Given the description of an element on the screen output the (x, y) to click on. 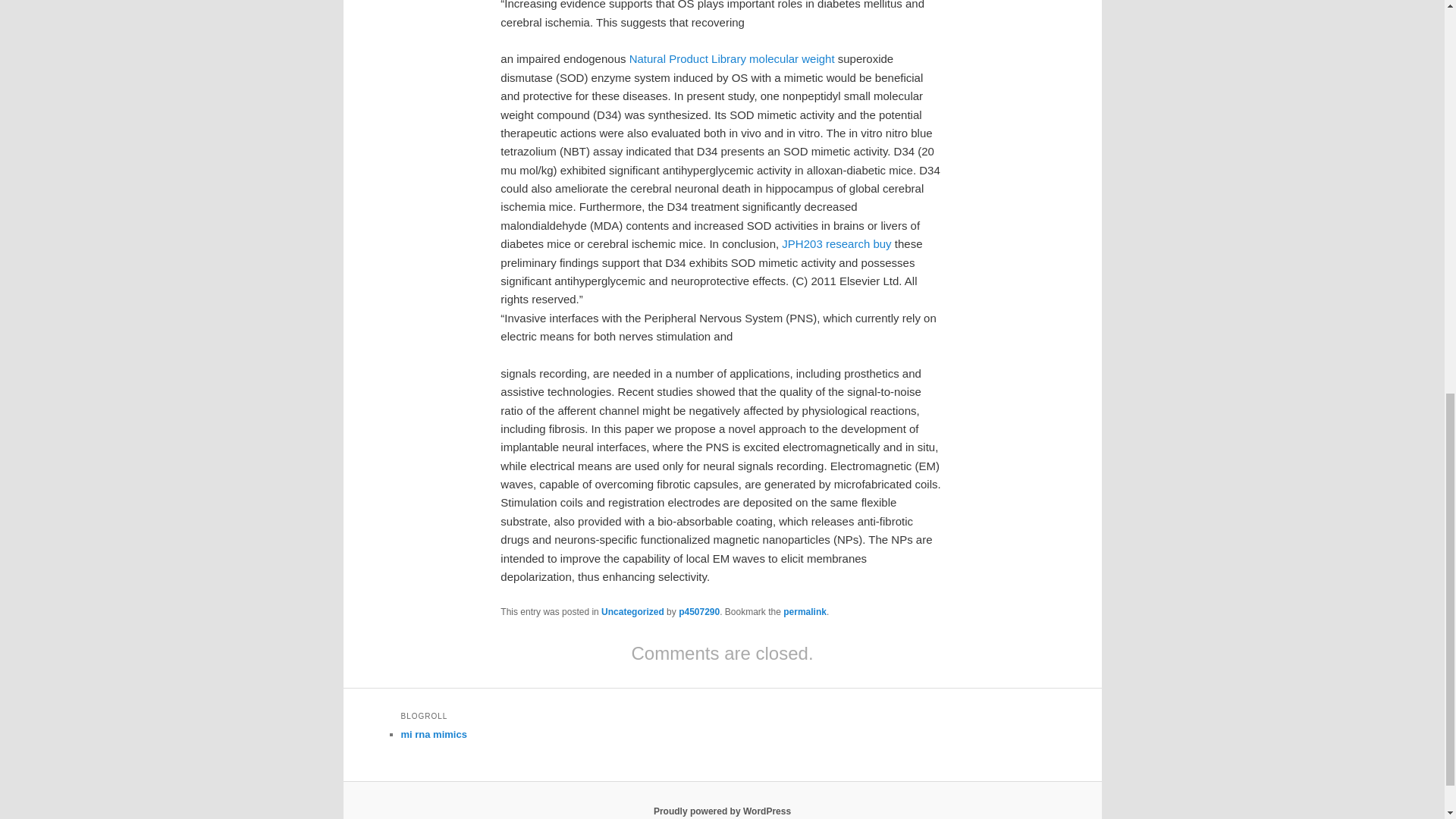
Natural Product Library molecular weight (731, 58)
pdgfr inhibitors (432, 734)
Proudly powered by WordPress (721, 810)
Uncategorized (632, 611)
JPH203 research buy (836, 243)
permalink (805, 611)
mi rna mimics (432, 734)
View all posts in Uncategorized (632, 611)
p4507290 (698, 611)
Semantic Personal Publishing Platform (721, 810)
